Given the description of an element on the screen output the (x, y) to click on. 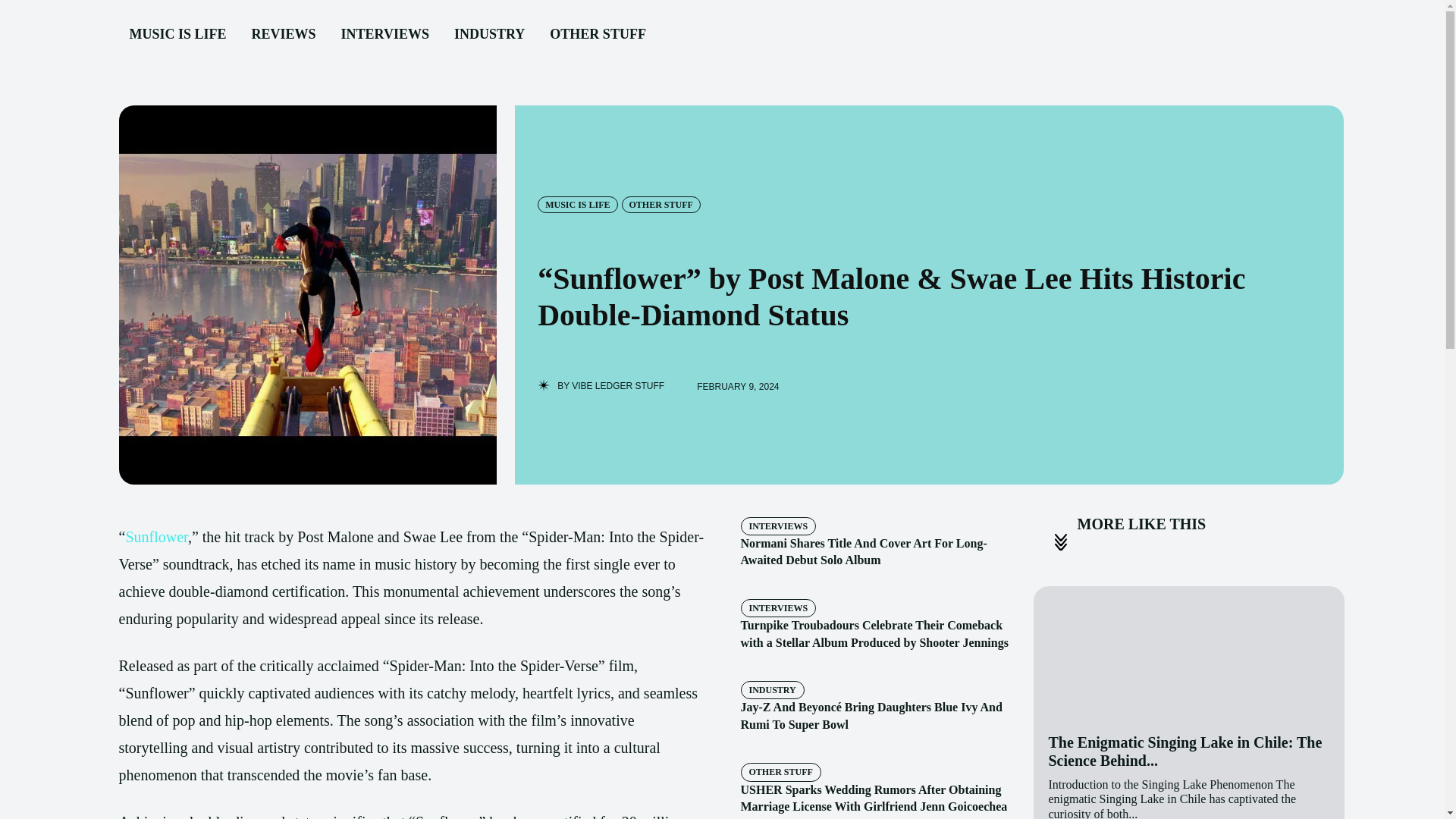
OTHER STUFF (597, 34)
MUSIC IS LIFE (577, 204)
INTERVIEWS (384, 34)
Sunflower (156, 536)
INTERVIEWS (777, 525)
